Given the description of an element on the screen output the (x, y) to click on. 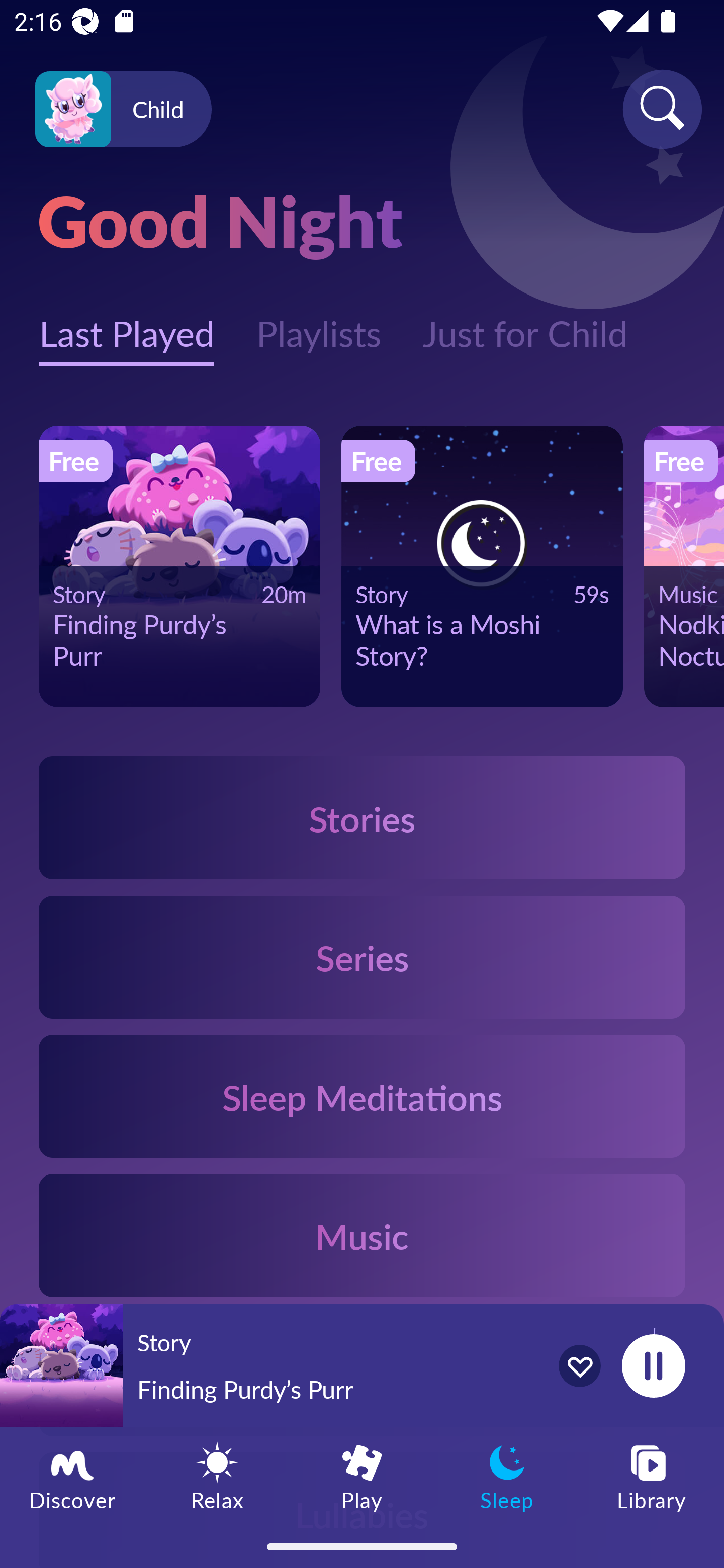
Profile icon Child (123, 109)
Playlists (317, 322)
Just for Child (524, 322)
Stories (361, 817)
Series (361, 957)
Sleep Meditations (361, 1096)
Music (361, 1234)
Story Finding Purdy’s Purr 0.005579952 Pause (362, 1365)
0.005579952 Pause (653, 1365)
Discover (72, 1475)
Relax (216, 1475)
Play (361, 1475)
Library (651, 1475)
